Given the description of an element on the screen output the (x, y) to click on. 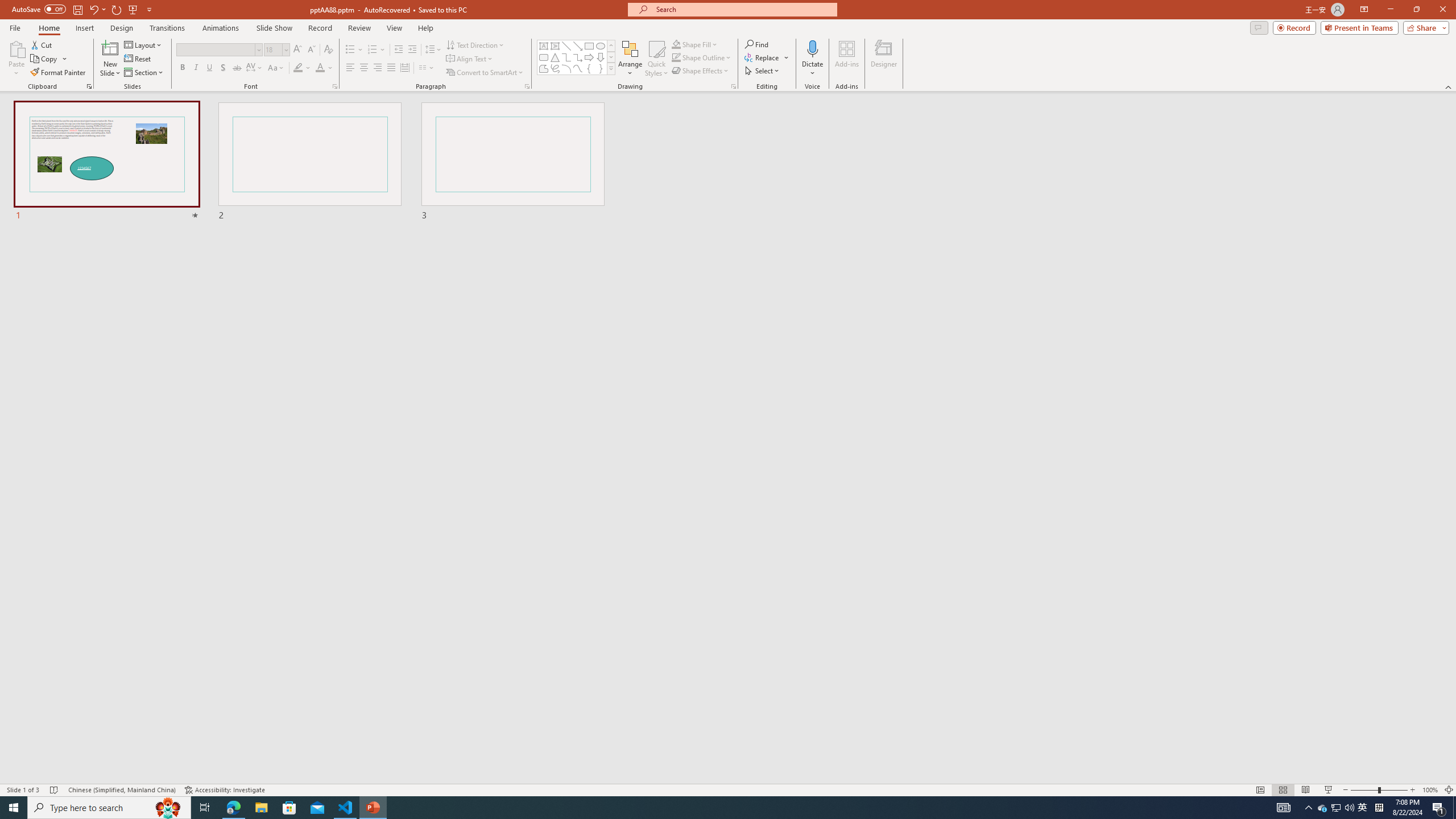
Underline (209, 67)
Justify (390, 67)
Font Color (324, 67)
Accessibility Checker Accessibility: Investigate (224, 790)
Rectangle (589, 45)
Font (219, 49)
Open (285, 49)
